Given the description of an element on the screen output the (x, y) to click on. 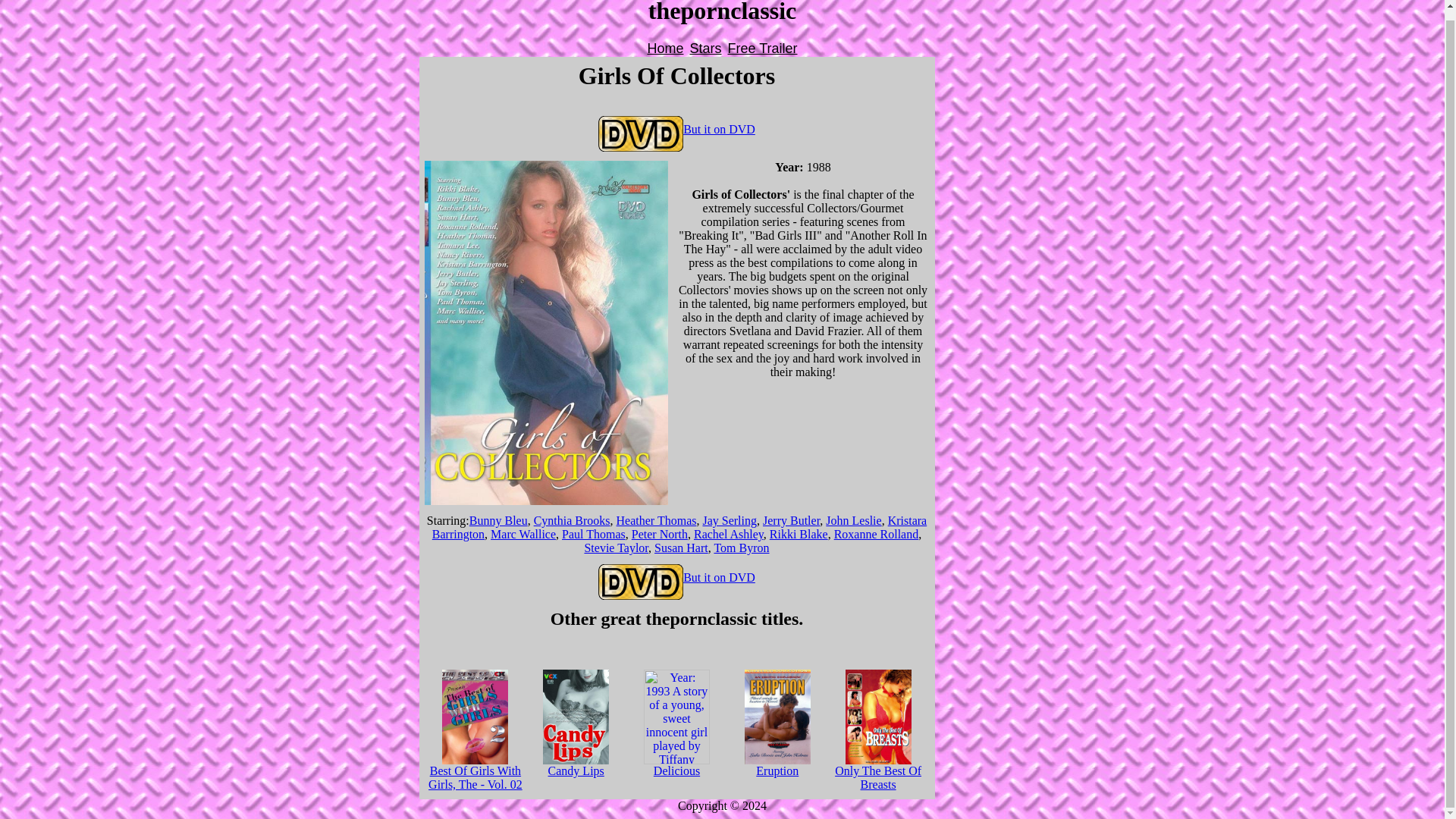
But it on DVD (676, 128)
Stars (704, 48)
Jay Serling (729, 520)
Tom Byron (740, 547)
Stevie Taylor (615, 547)
John Leslie (852, 520)
But it on DVD (676, 576)
Rachel Ashley (728, 533)
Free Trailer (762, 48)
Marc Wallice (523, 533)
Home (664, 48)
Rikki Blake (799, 533)
Peter North (659, 533)
Susan Hart (680, 547)
Cynthia Brooks (572, 520)
